Given the description of an element on the screen output the (x, y) to click on. 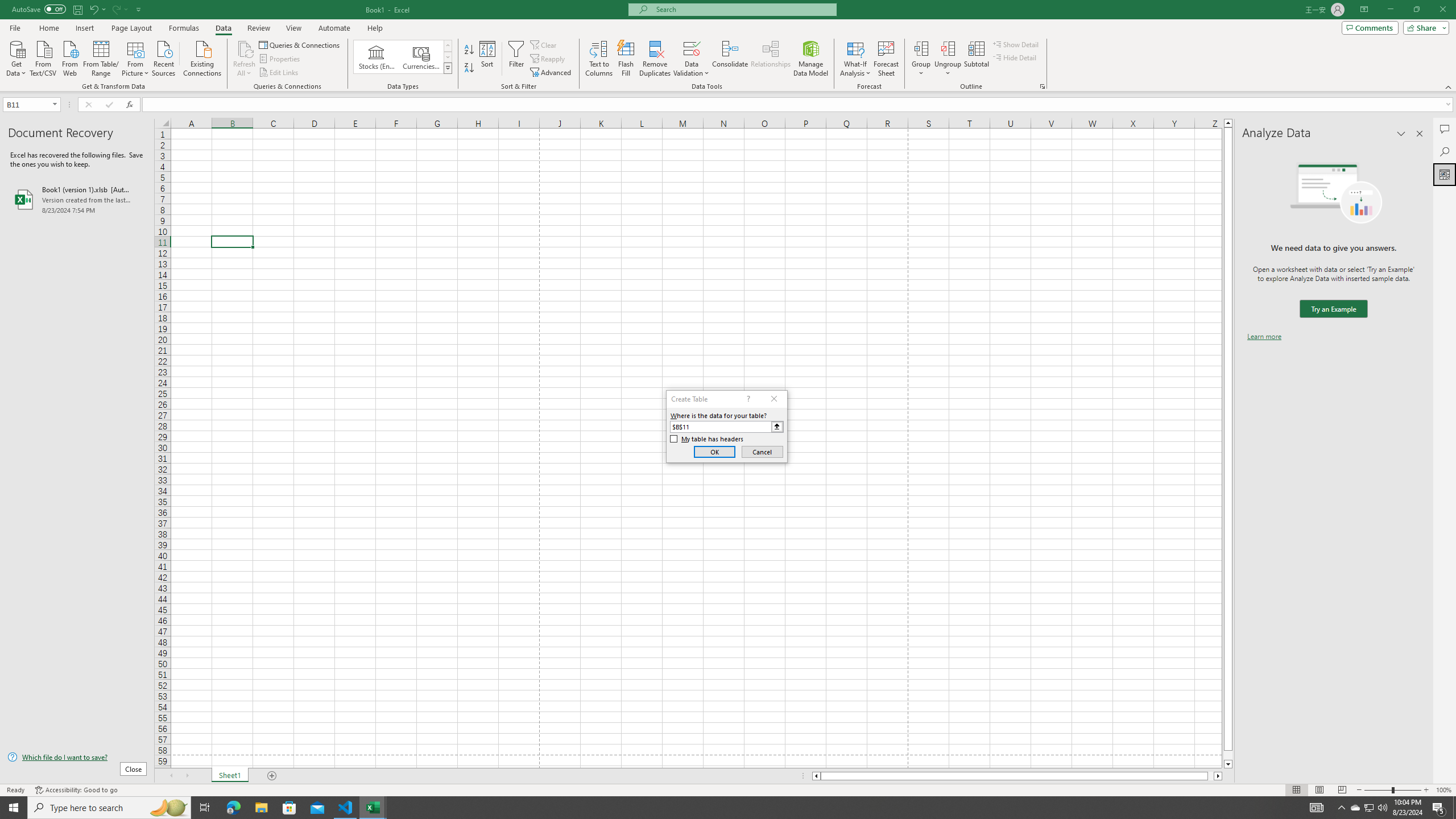
Sort... (487, 58)
Data Types (448, 67)
Stocks (English) (375, 56)
Currencies (English) (420, 56)
From Web (69, 57)
From Picture (135, 57)
Filter (515, 58)
